Given the description of an element on the screen output the (x, y) to click on. 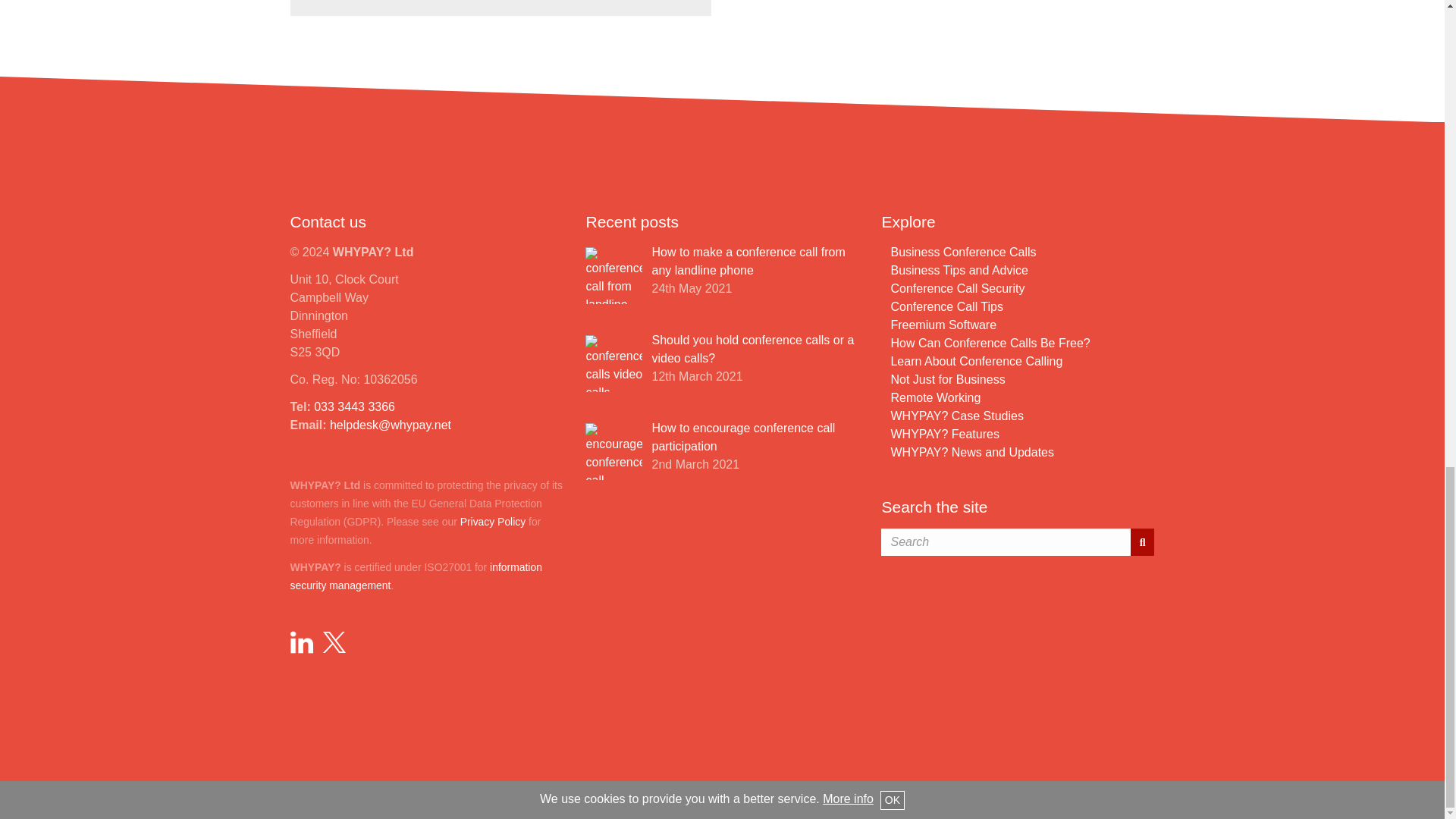
Business Tips and Advice (958, 269)
Freemium Software (942, 324)
WHYPAY? News and Updates (971, 451)
Search (1142, 542)
information security management (415, 576)
Privacy Policy (492, 521)
Conference Call Security (957, 287)
Should you hold conference calls or a video calls? (751, 348)
How to make a conference call from any landline phone (747, 260)
Learn About Conference Calling (975, 360)
Business Conference Calls (962, 251)
Remote Working (934, 397)
Conference Call Tips (946, 306)
Not Just for Business (946, 379)
How to encourage conference call participation (742, 436)
